Given the description of an element on the screen output the (x, y) to click on. 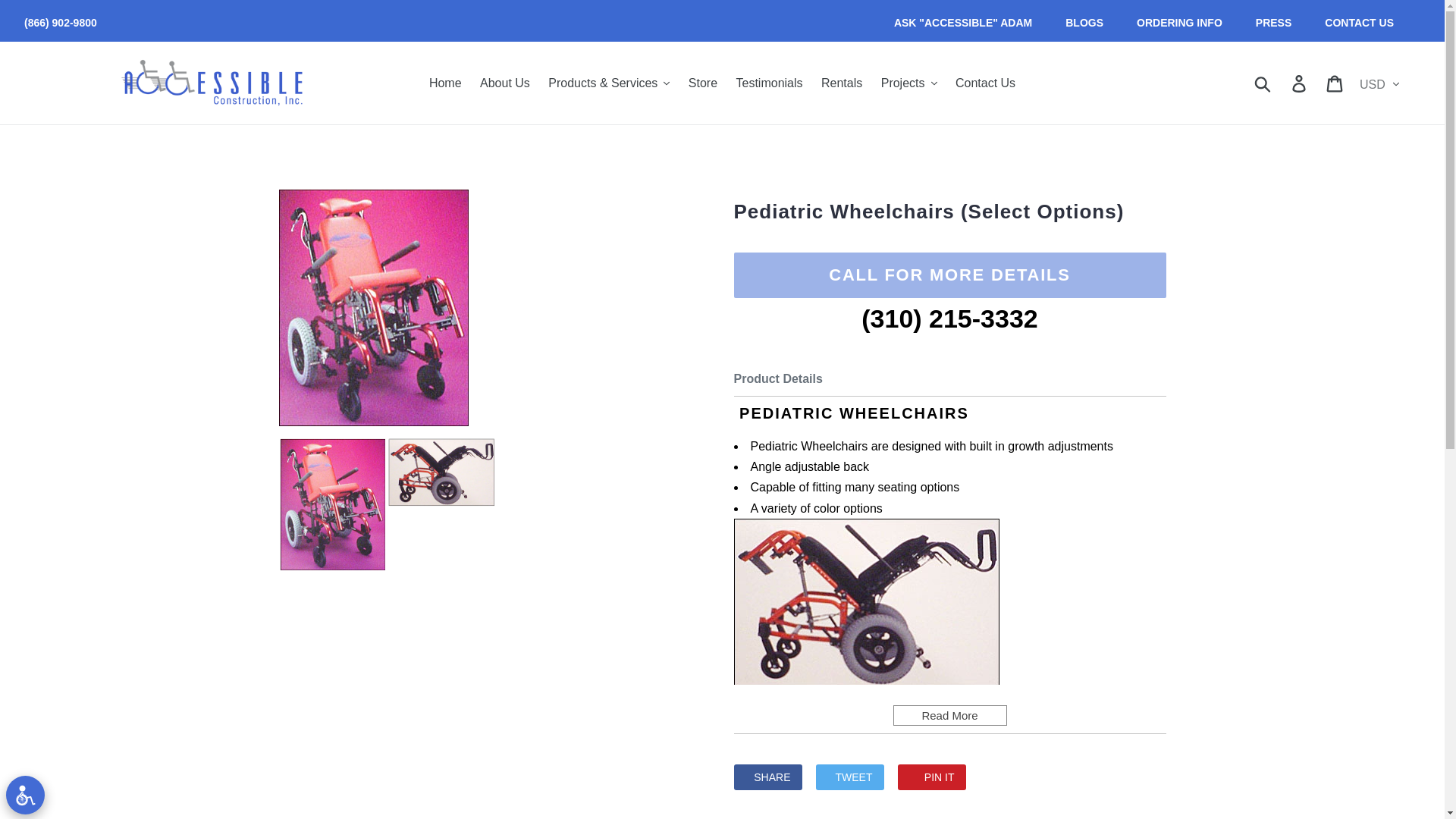
Submit (1263, 82)
Home (445, 82)
Store (703, 82)
PRESS (1273, 22)
Testimonials (769, 82)
ASK "ACCESSIBLE" ADAM (962, 22)
CONTACT US (1358, 22)
BLOGS (1083, 22)
Rentals (841, 82)
facebook (767, 777)
Contact Us (985, 82)
About Us (504, 82)
twitter (849, 777)
ORDERING INFO (1179, 22)
pinterest (932, 777)
